Given the description of an element on the screen output the (x, y) to click on. 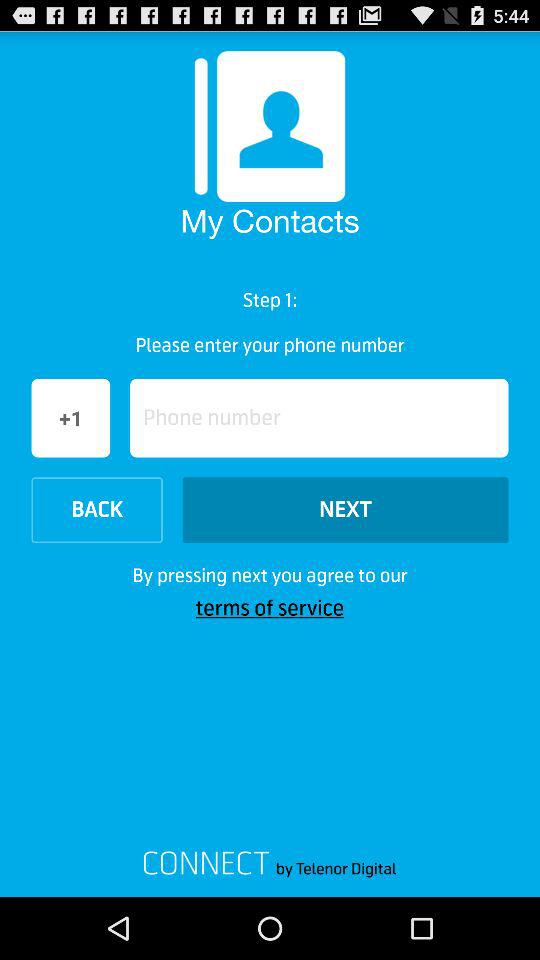
launch icon above by pressing next (96, 510)
